Given the description of an element on the screen output the (x, y) to click on. 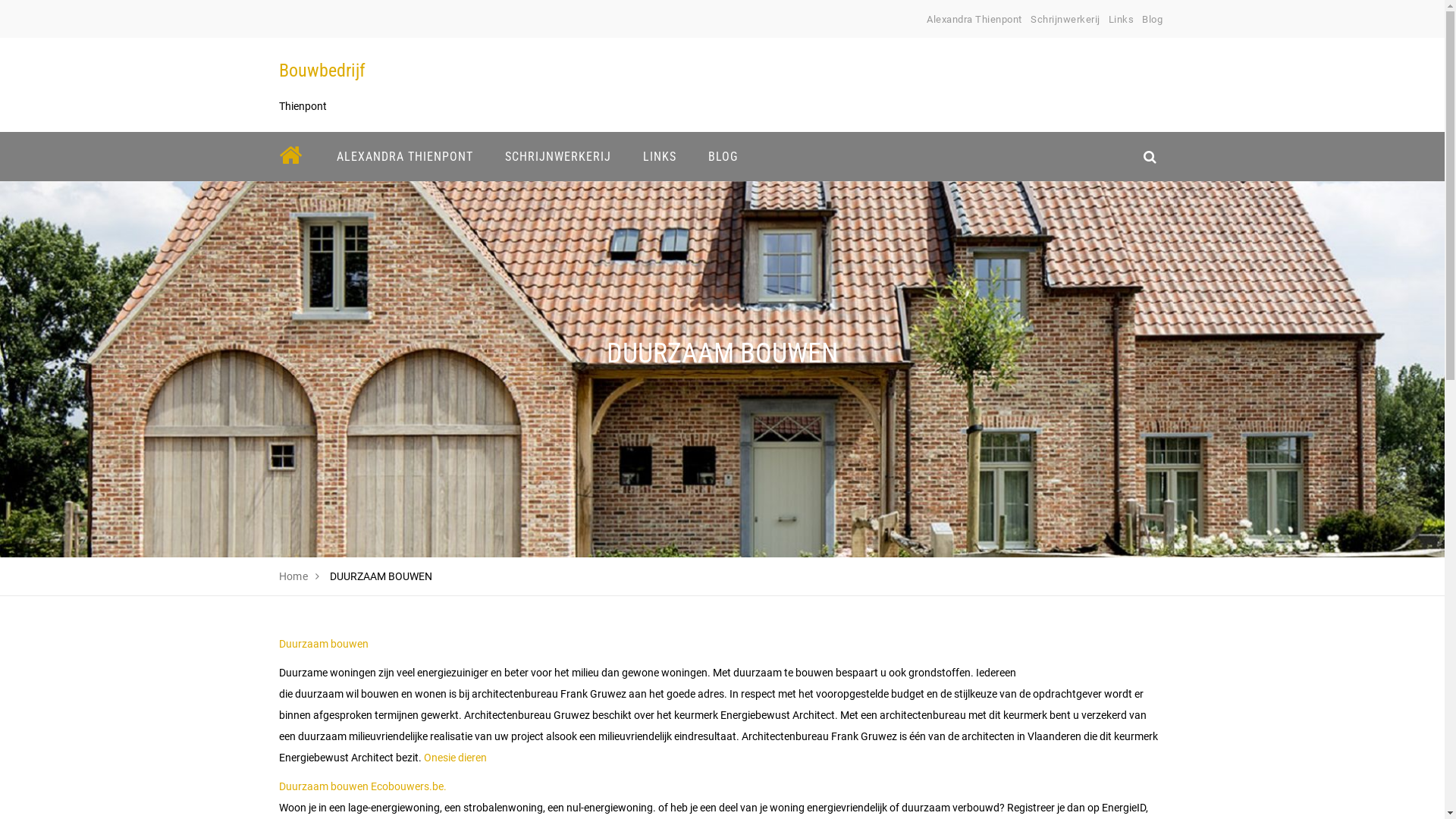
Onesie dieren Element type: text (454, 757)
BLOG Element type: text (721, 156)
Duurzaam bouwen Element type: text (323, 643)
Duurzaam bouwen Ecobouwers.be. Element type: text (362, 786)
Links Element type: text (1121, 19)
ALEXANDRA THIENPONT Element type: text (404, 156)
Bouwbedrijf Element type: text (322, 70)
Blog Element type: text (1152, 19)
LINKS Element type: text (658, 156)
Schrijnwerkerij Element type: text (1065, 19)
search_icon Element type: hover (1148, 156)
SCHRIJNWERKERIJ Element type: text (557, 156)
Alexandra Thienpont Element type: text (974, 19)
Home Element type: text (293, 576)
